Given the description of an element on the screen output the (x, y) to click on. 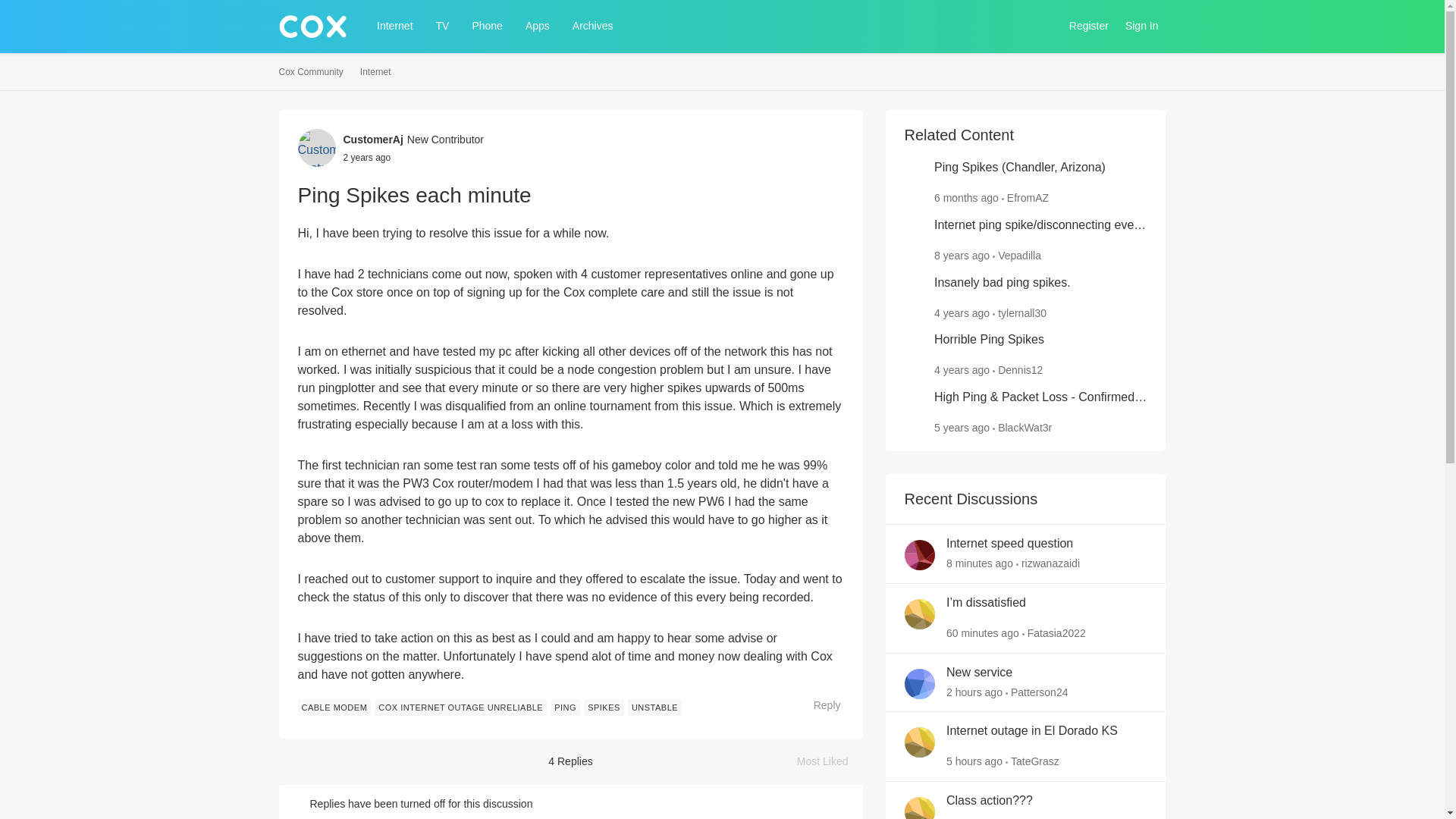
November 30, 2016 at 9:55 PM (962, 255)
Archives (592, 26)
Reply (819, 705)
Internet speed question (1009, 544)
Apps (537, 26)
Phone (486, 26)
Internet (375, 71)
Horrible Ping Spikes (988, 340)
CustomerAj (372, 139)
Skip to content (329, 60)
February 12, 2021 at 4:25 AM (962, 369)
January 23, 2024 at 8:02 AM (966, 197)
July 26, 2019 at 4:05 PM (962, 427)
September 22, 2022 at 7:00 PM (366, 156)
Search (1043, 26)
